Given the description of an element on the screen output the (x, y) to click on. 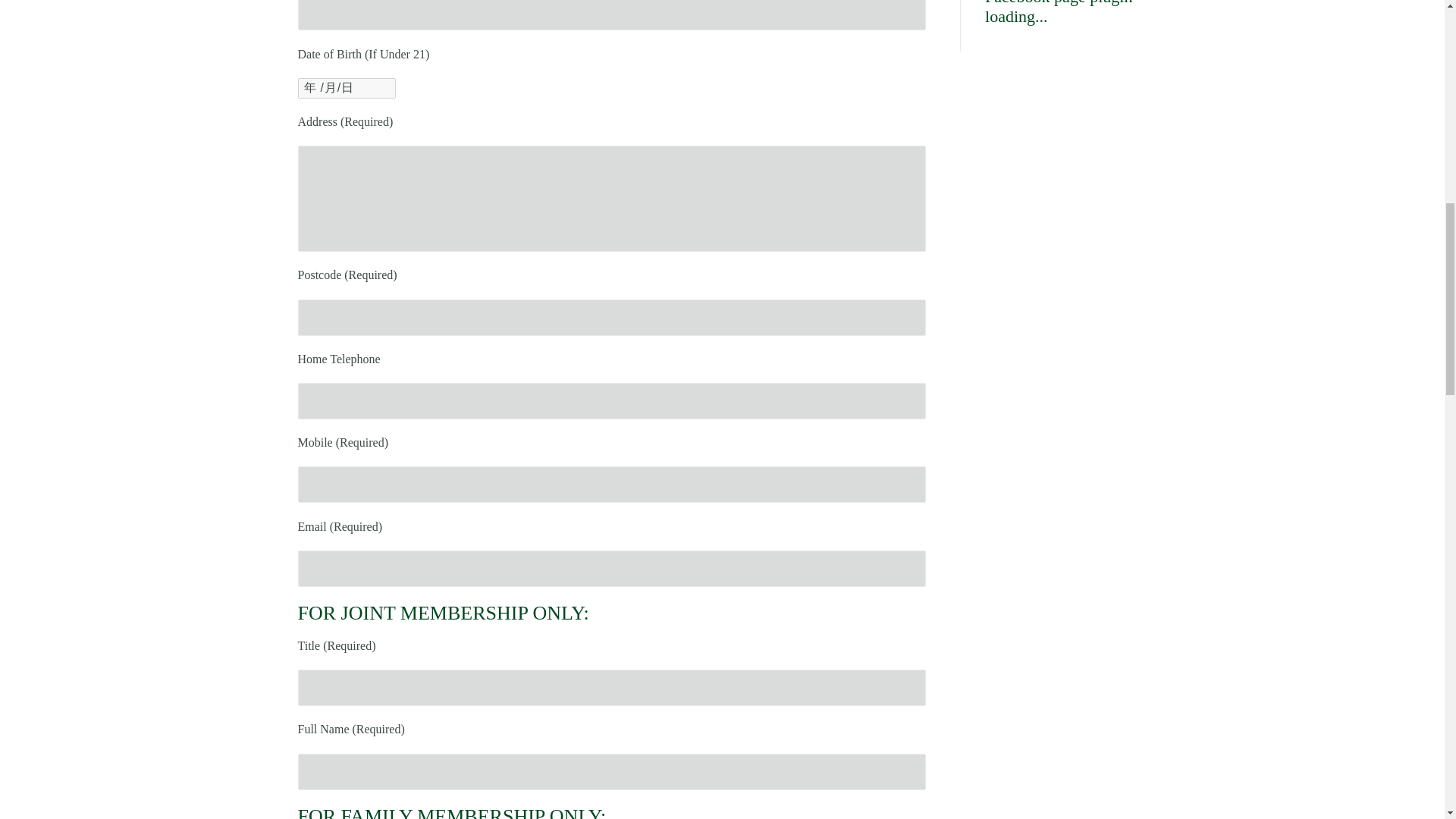
Facebook page plugin loading... (1058, 12)
